Given the description of an element on the screen output the (x, y) to click on. 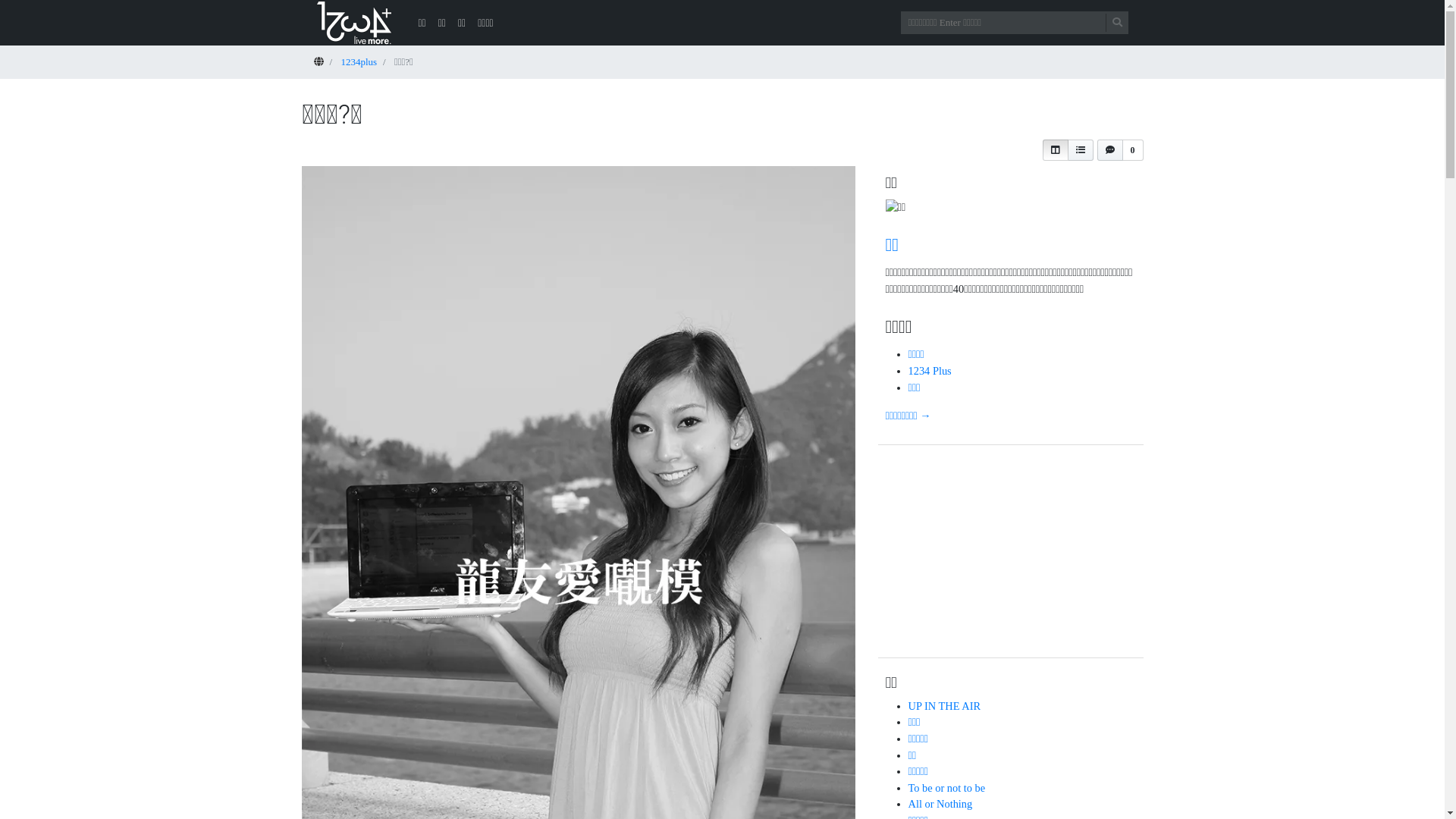
1234plus Element type: text (358, 61)
To be or not to be Element type: text (946, 787)
Advertisement Element type: hover (1010, 554)
UP IN THE AIR Element type: text (944, 705)
0 Element type: text (1119, 149)
1234 Plus Element type: text (929, 370)
All or Nothing Element type: text (940, 803)
